Given the description of an element on the screen output the (x, y) to click on. 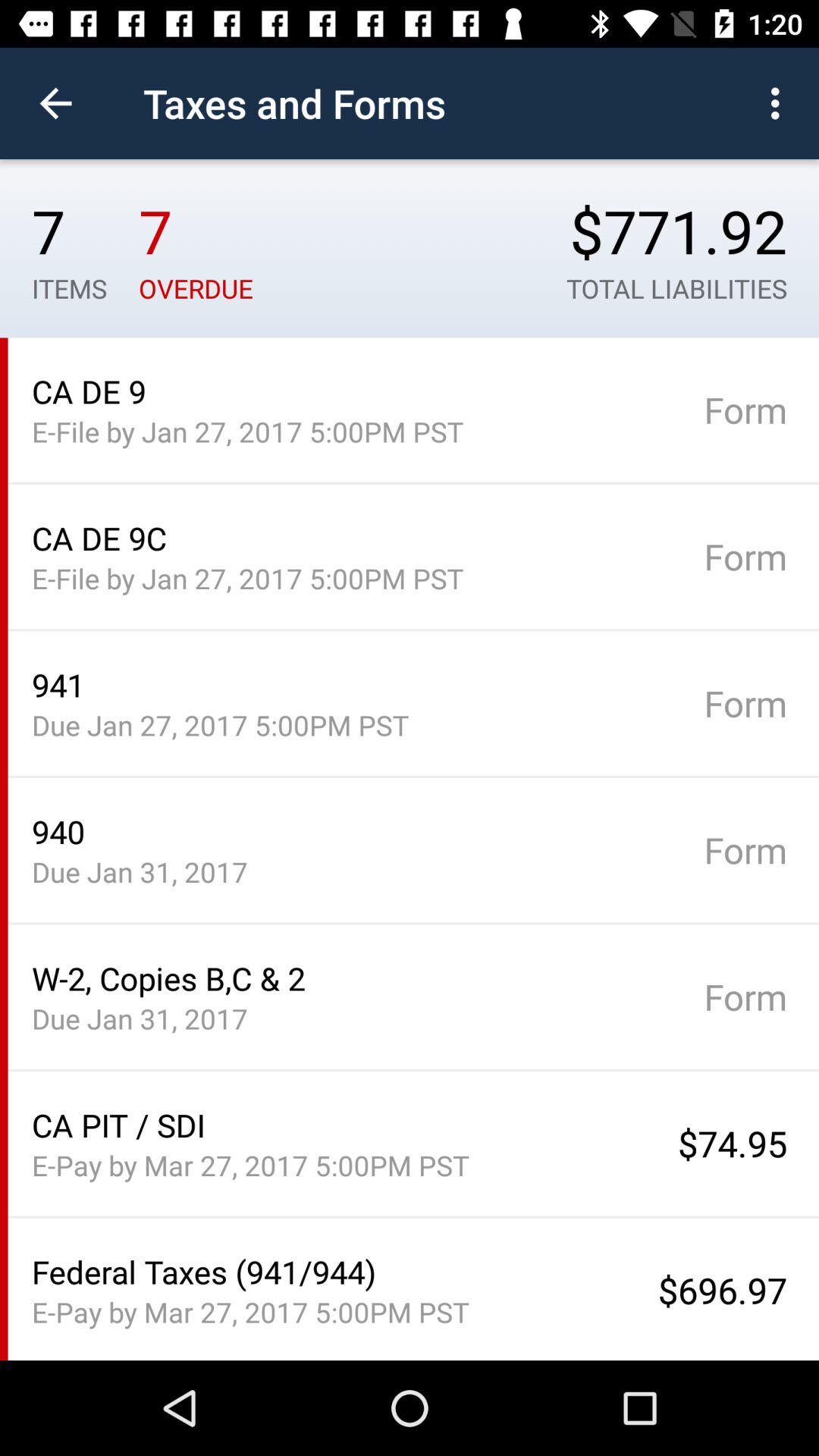
launch item above 7 (55, 103)
